Given the description of an element on the screen output the (x, y) to click on. 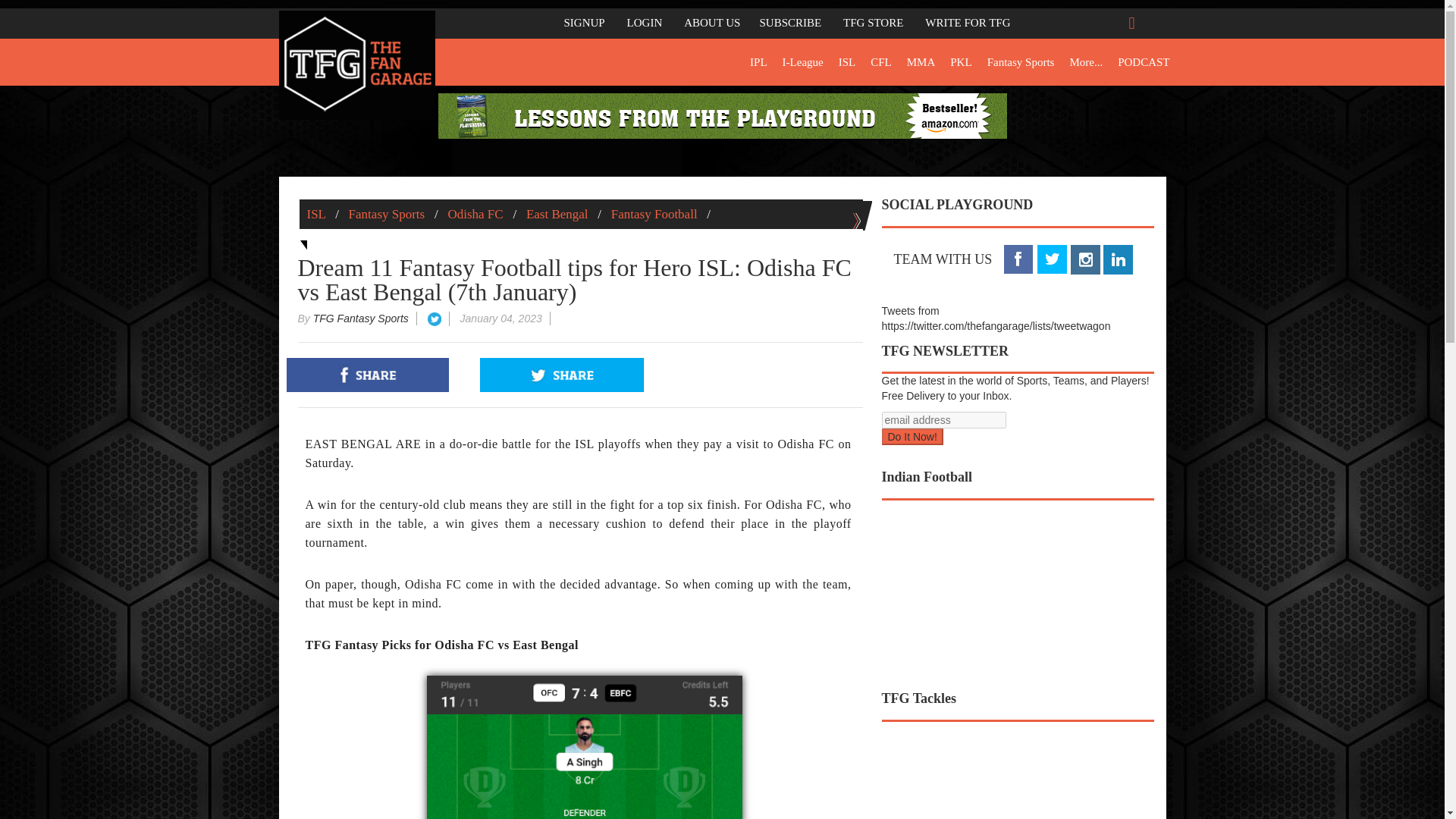
Do It Now! (911, 436)
